Given the description of an element on the screen output the (x, y) to click on. 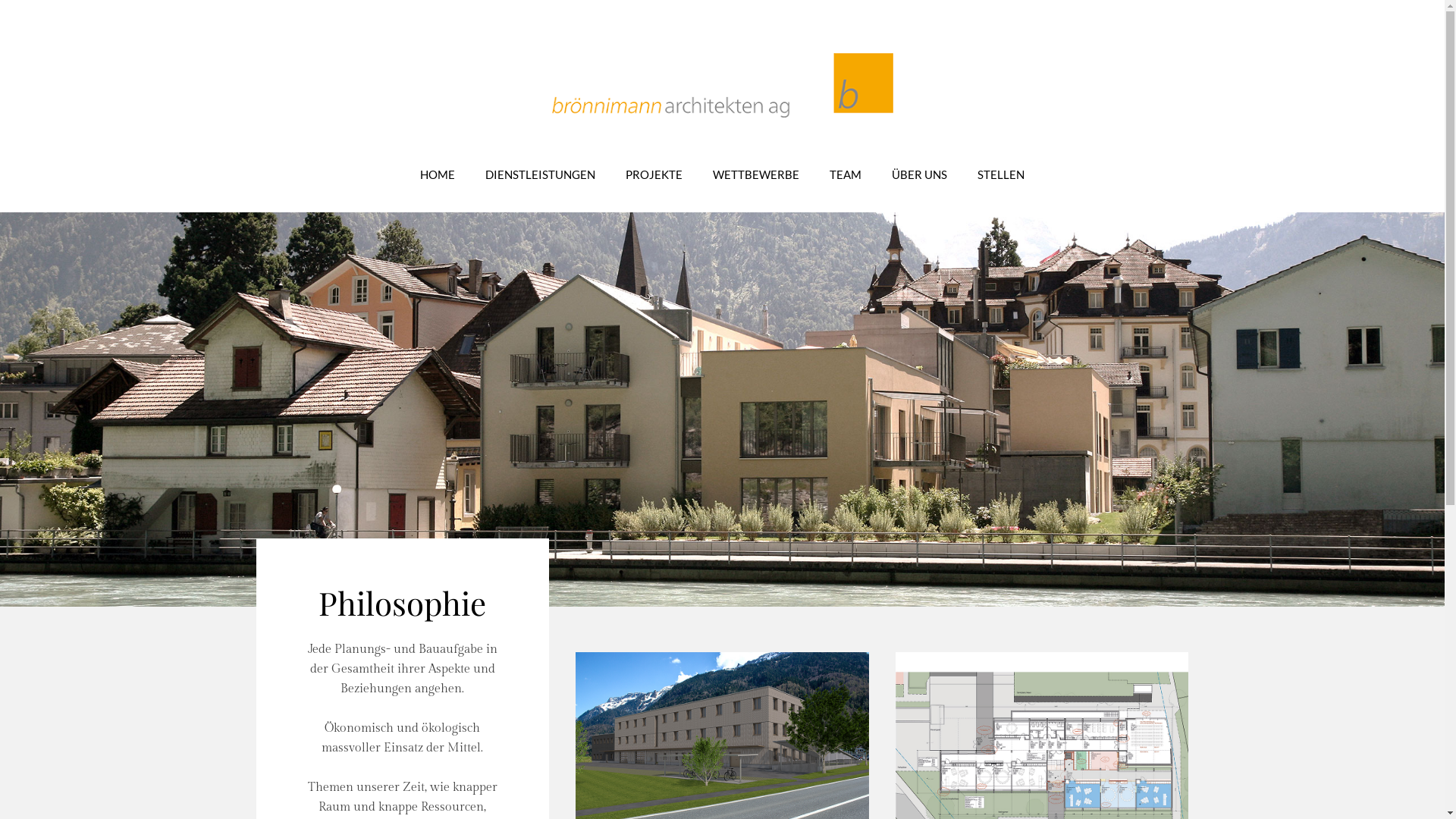
DIENSTLEISTUNGEN Element type: text (540, 174)
STELLEN Element type: text (1000, 174)
TEAM Element type: text (845, 174)
HOME Element type: text (437, 174)
WETTBEWERBE Element type: text (755, 174)
PROJEKTE Element type: text (653, 174)
